Given the description of an element on the screen output the (x, y) to click on. 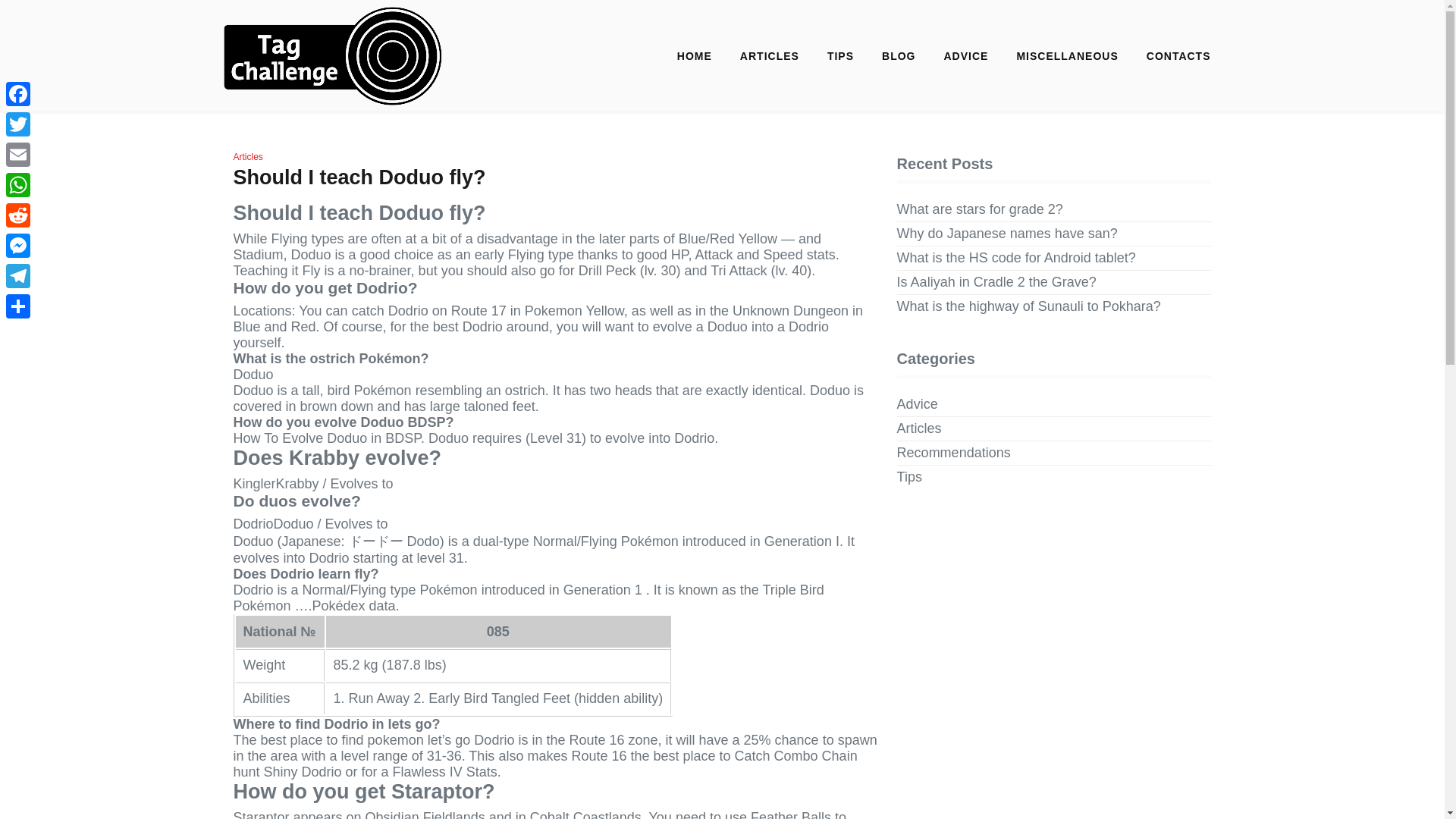
Advice (916, 404)
What are stars for grade 2? (979, 209)
Why do Japanese names have san? (1007, 233)
MISCELLANEOUS (1066, 55)
ARTICLES (769, 55)
Articles (919, 428)
Messenger (17, 245)
TIPS (840, 55)
WhatsApp (17, 184)
Twitter (17, 123)
BLOG (898, 55)
Reddit (17, 214)
Facebook (17, 93)
Tips (908, 477)
Telegram (17, 276)
